Given the description of an element on the screen output the (x, y) to click on. 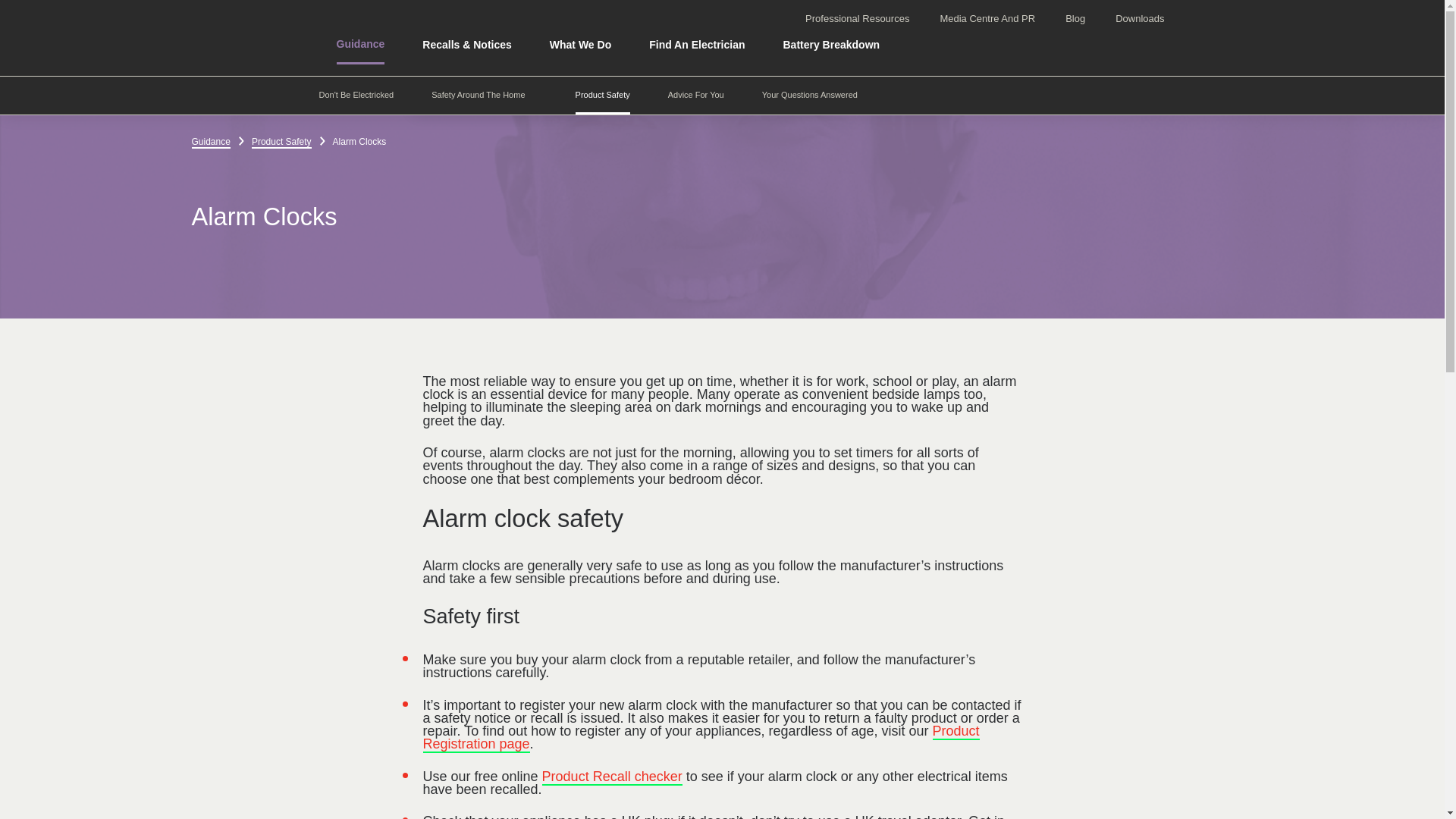
Back to home (239, 38)
